Given the description of an element on the screen output the (x, y) to click on. 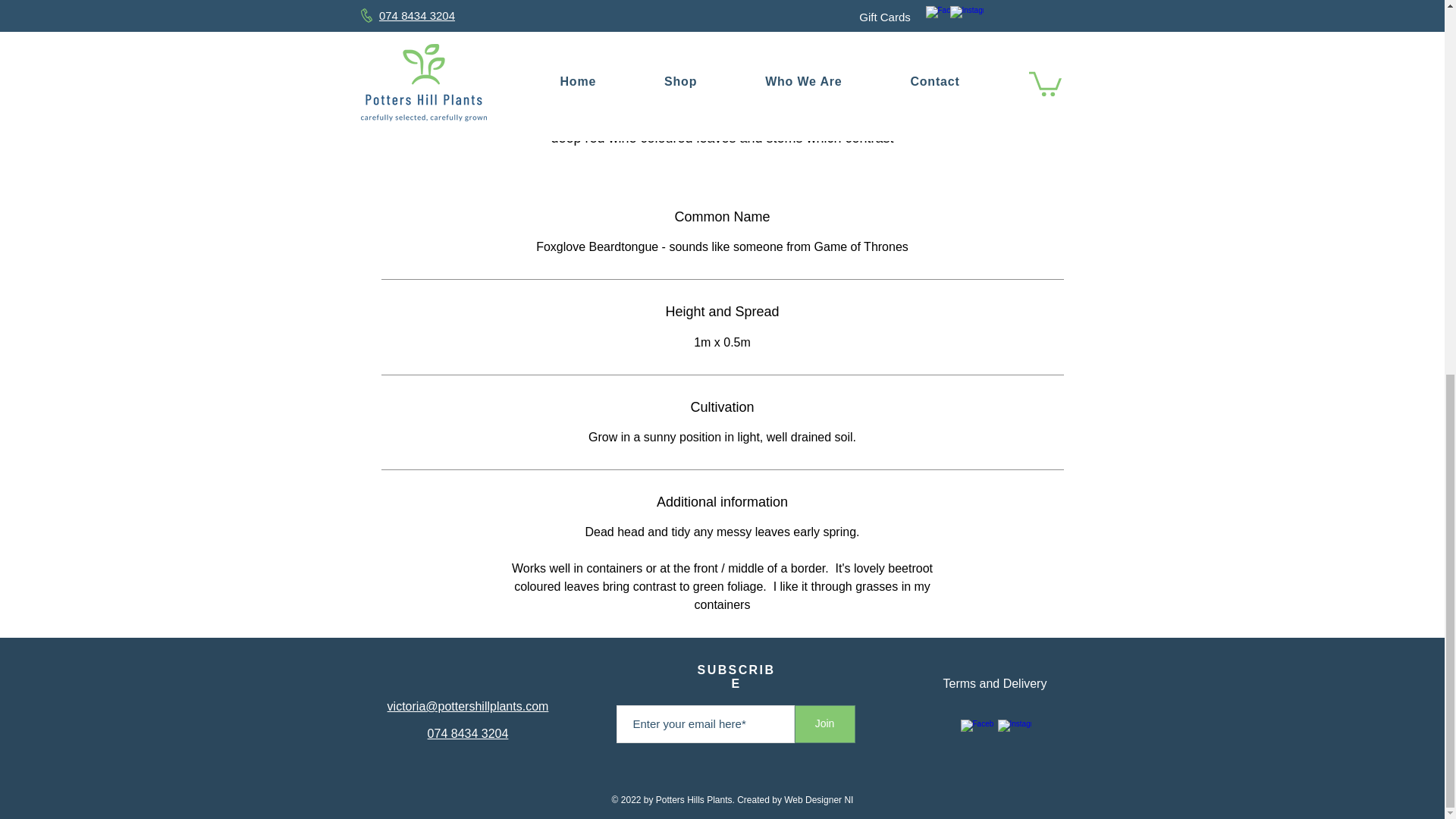
Join (825, 723)
Terms and Delivery (994, 683)
074 8434 3204 (468, 733)
